Given the description of an element on the screen output the (x, y) to click on. 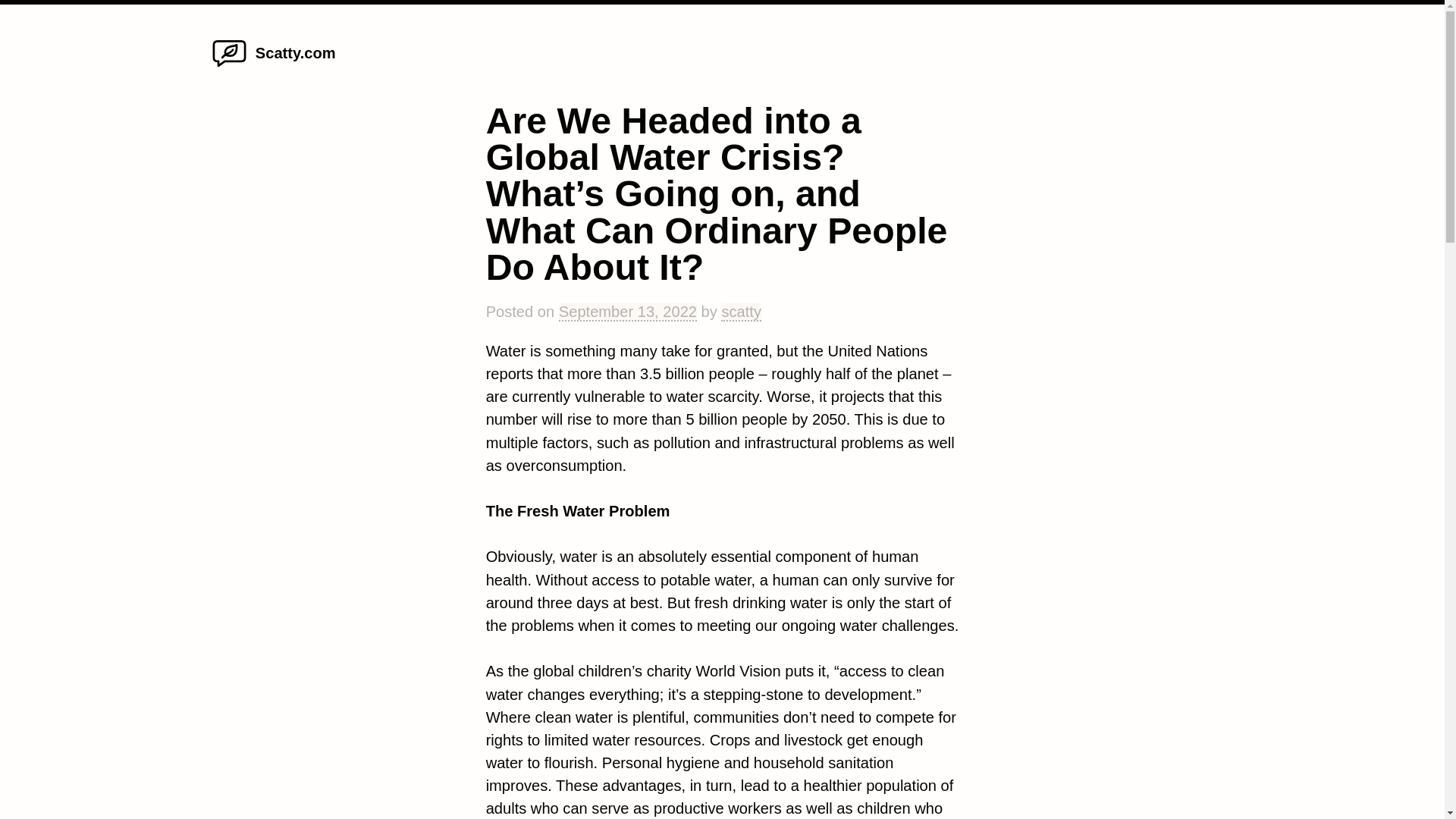
September 13, 2022 (628, 312)
scatty (740, 312)
Home (229, 66)
Scatty.com (296, 53)
